Given the description of an element on the screen output the (x, y) to click on. 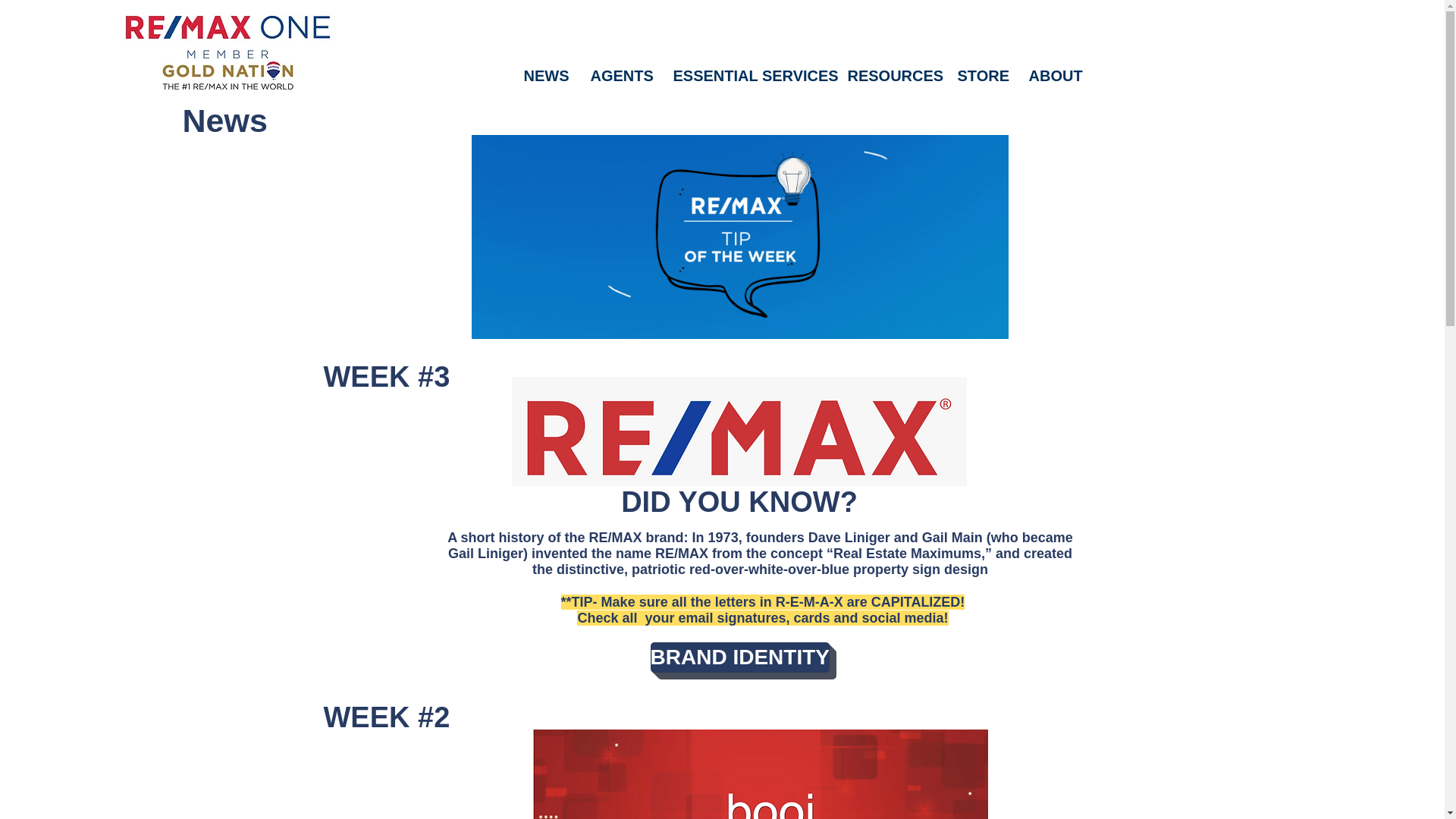
RESOURCES (889, 76)
NEWS (544, 76)
AGENTS (619, 76)
ESSENTIAL SERVICES (748, 76)
9.jpg (226, 52)
